Given the description of an element on the screen output the (x, y) to click on. 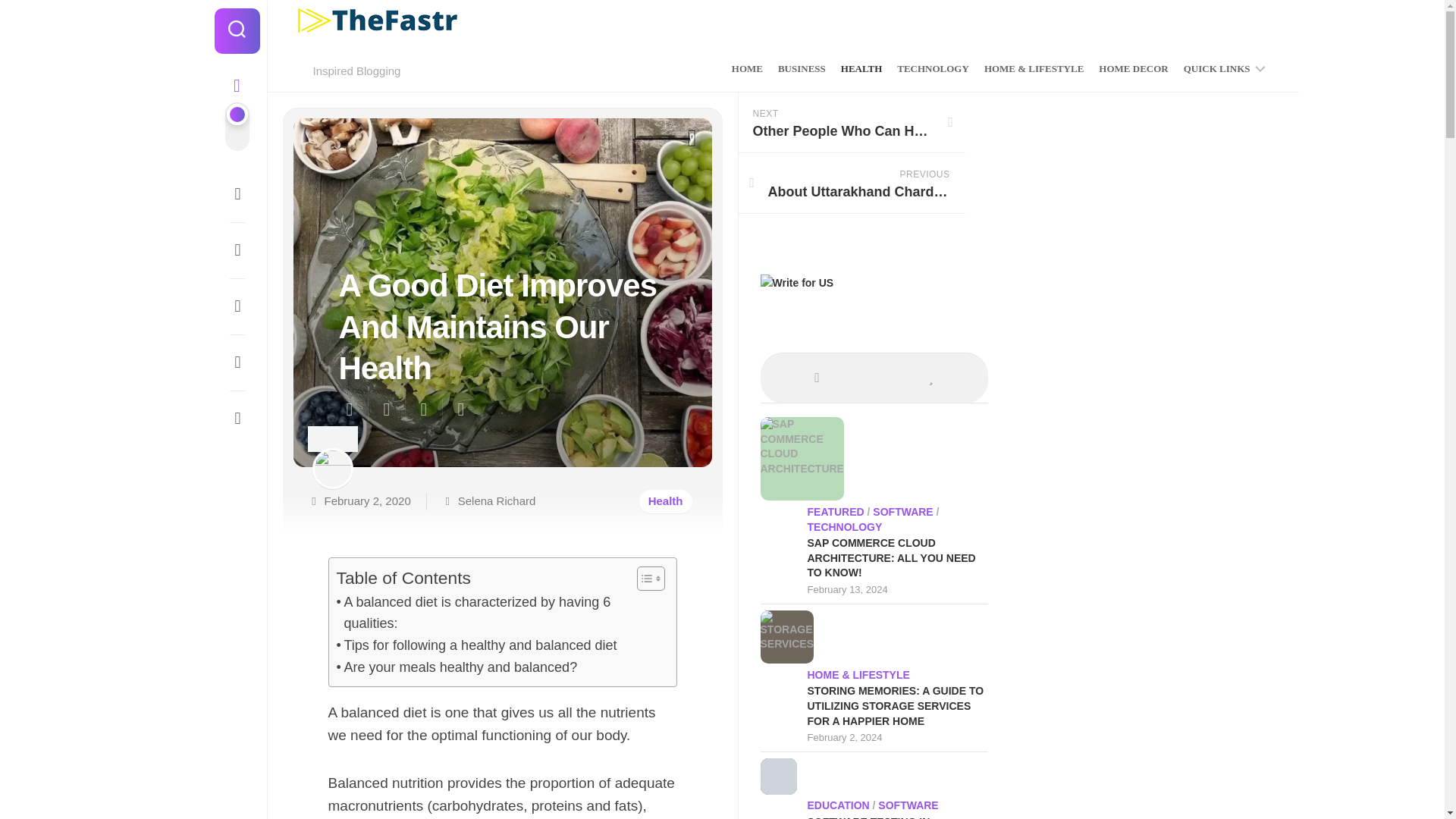
Tips for following a healthy and balanced diet (476, 645)
Share on Pinterest (423, 409)
A balanced diet is characterized by having 6 qualities: (498, 613)
Posts by Selena Richard (496, 500)
HOME (747, 68)
Share on Facebook (385, 409)
HOME DECOR (1133, 68)
Share on X (351, 409)
Recent Posts (816, 376)
BUSINESS (801, 68)
